Given the description of an element on the screen output the (x, y) to click on. 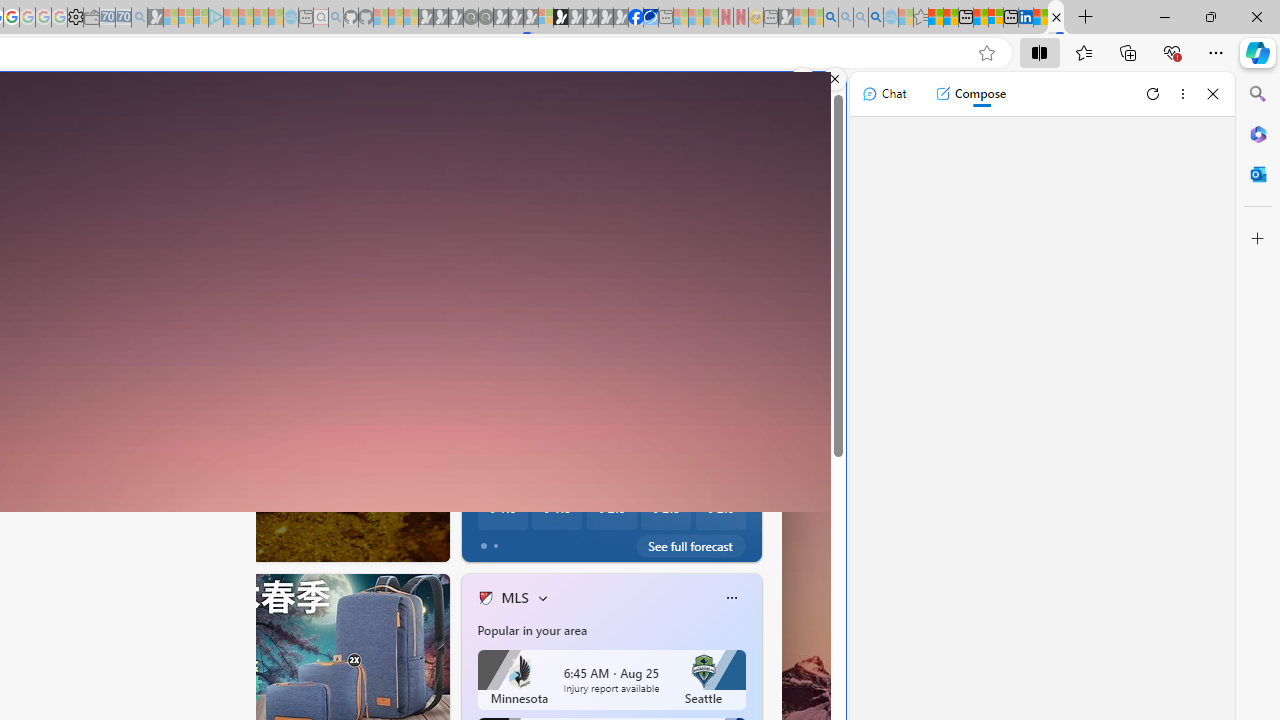
AutomationID: tab-23 (165, 542)
View comments 6 Comment (573, 541)
Nordace | Facebook (635, 17)
Secret History (477, 473)
MLS (514, 597)
